Given the description of an element on the screen output the (x, y) to click on. 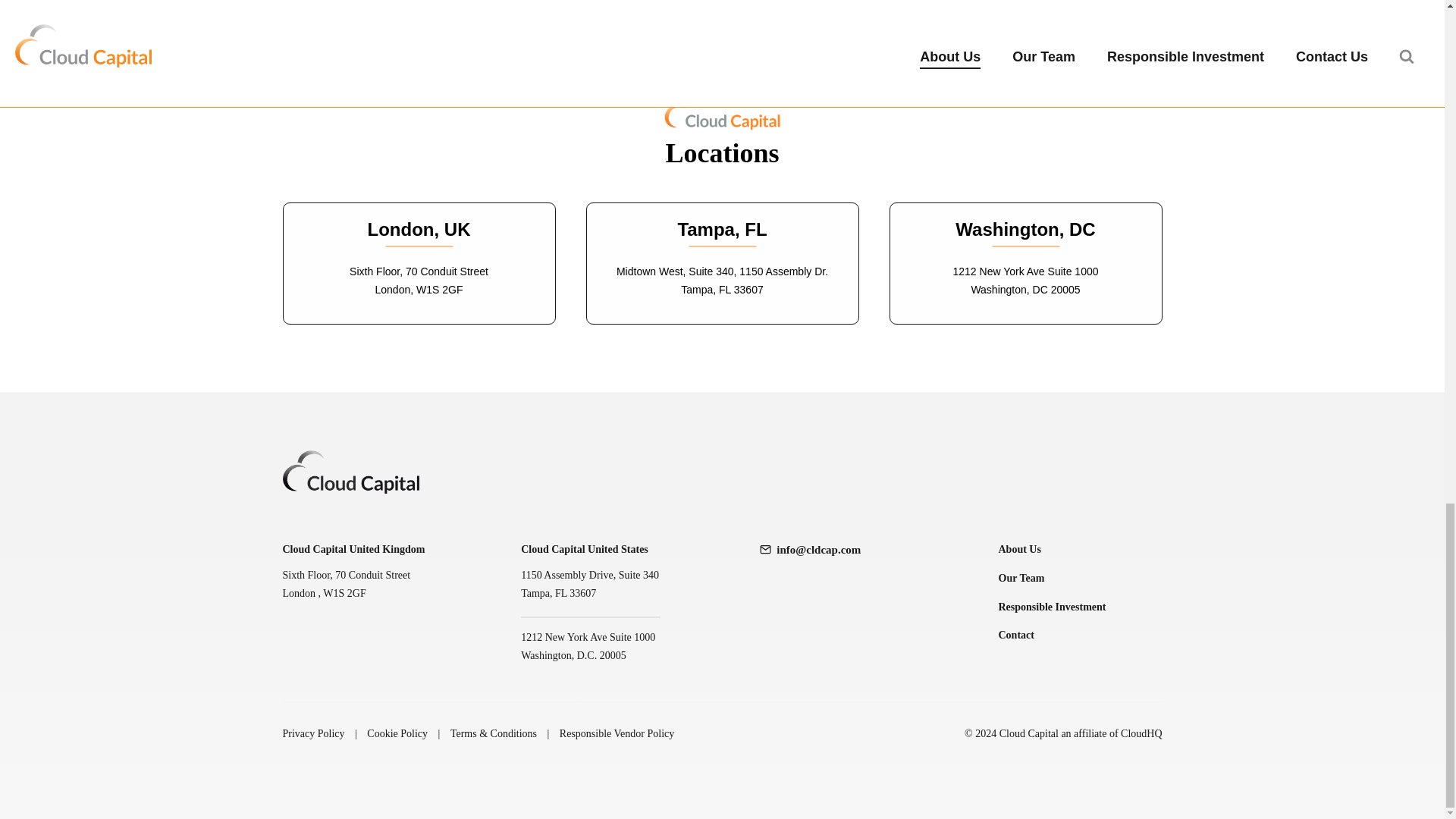
Cookie Policy (397, 733)
Privacy Policy (312, 733)
Responsible Vendor Policy (616, 733)
About Us (1079, 549)
Responsible Investment (1079, 607)
Our Team (1079, 578)
Contact (1079, 635)
